Given the description of an element on the screen output the (x, y) to click on. 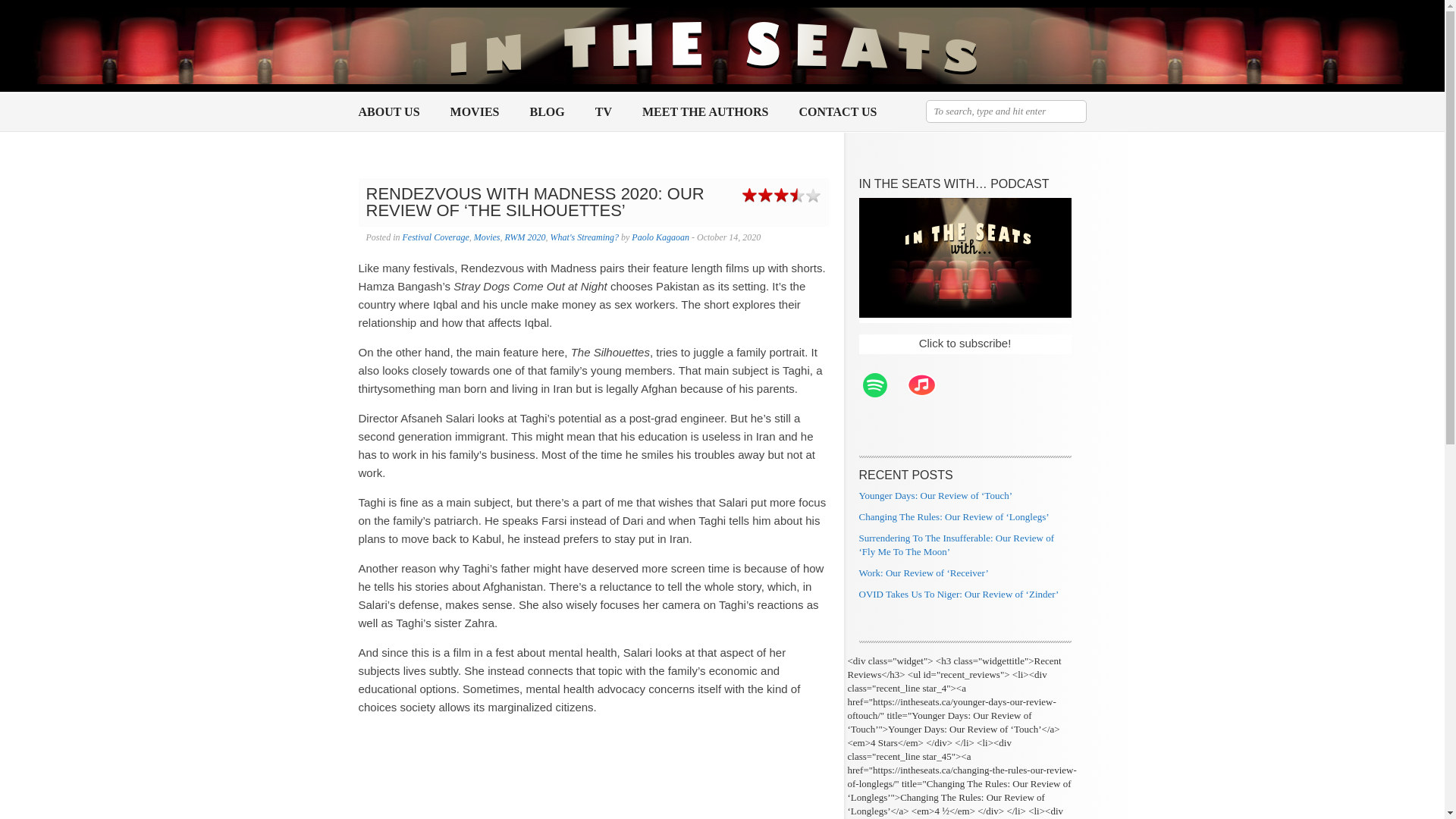
Movies (487, 236)
MEET THE AUTHORS (705, 112)
iTunes (928, 385)
Paolo Kagaoan (659, 236)
Festival Coverage (434, 236)
ABOUT US (388, 112)
To search, type and hit enter (1005, 110)
In The Seats (714, 45)
Spotify (882, 385)
BLOG (546, 112)
RWM 2020 (523, 236)
Posts by Paolo Kagaoan (659, 236)
MOVIES (474, 112)
To search, type and hit enter (1005, 110)
CONTACT US (838, 112)
